Given the description of an element on the screen output the (x, y) to click on. 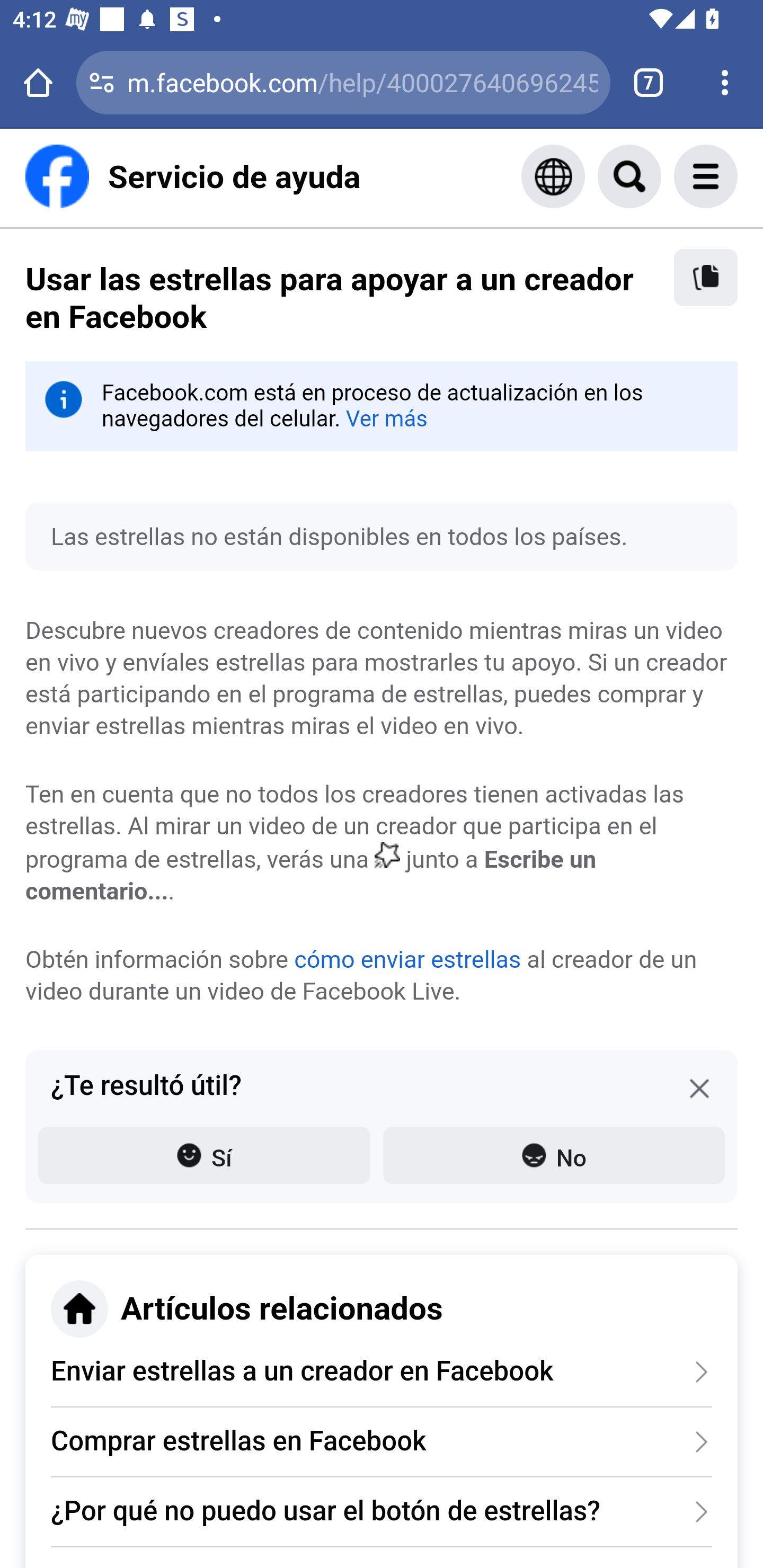
Open the home page (38, 82)
Connection is secure (101, 82)
Switch or close tabs (648, 82)
Customize and control Google Chrome (724, 82)
Servicio de ayuda S9-8mgjtmdP Servicio de ayuda (192, 176)
Seleccionar el idioma (553, 176)
Búsqueda en el servicio de ayuda (648, 176)
Menú del servicio de ayuda (724, 176)
Copiar enlace (705, 277)
Ver más (385, 418)
cómo enviar estrellas (407, 959)
Cerrar cuadro de diálogo de comentarios (698, 1087)
Sí (204, 1155)
No (553, 1155)
